Given the description of an element on the screen output the (x, y) to click on. 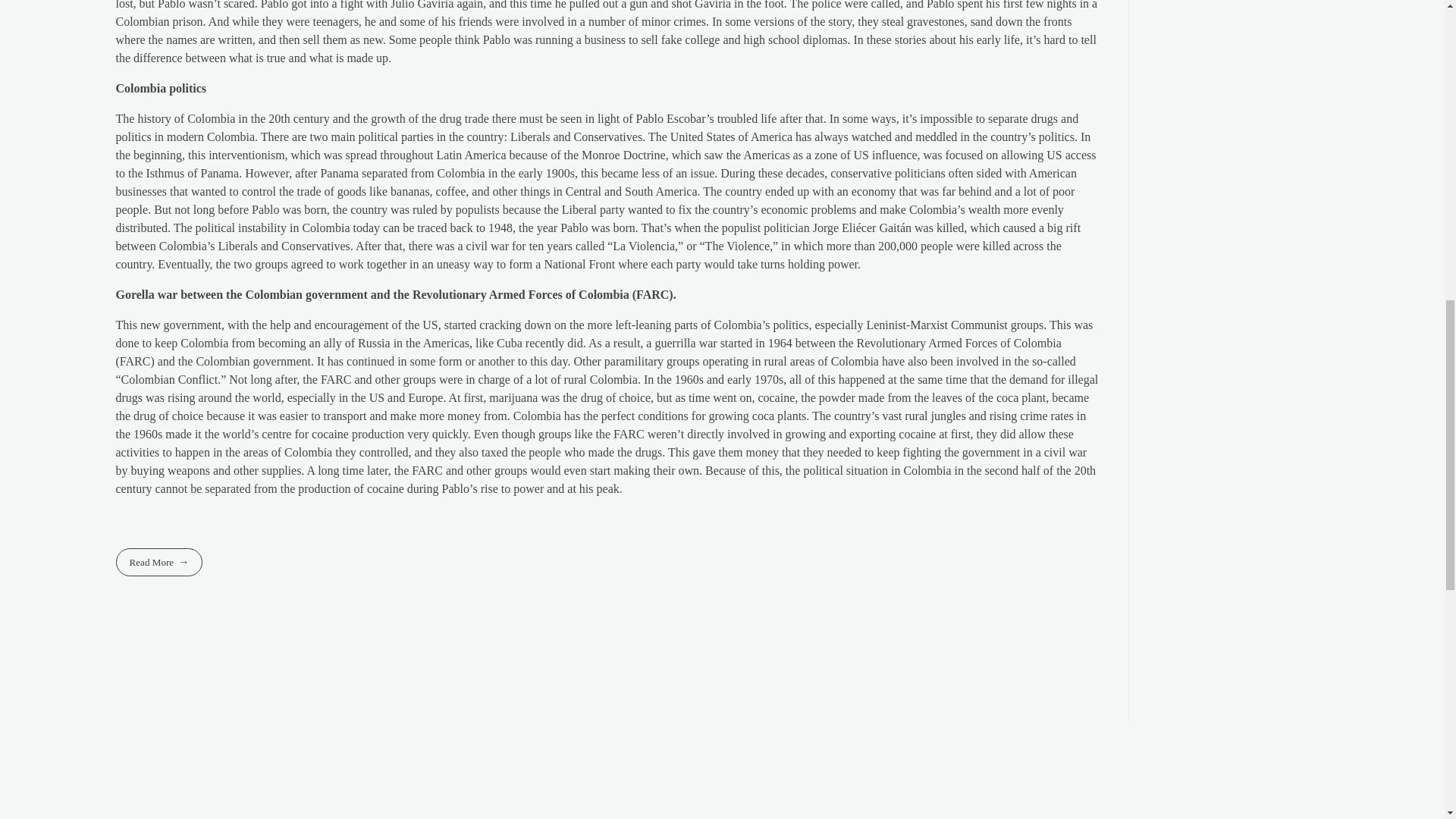
Read More (158, 561)
